Given the description of an element on the screen output the (x, y) to click on. 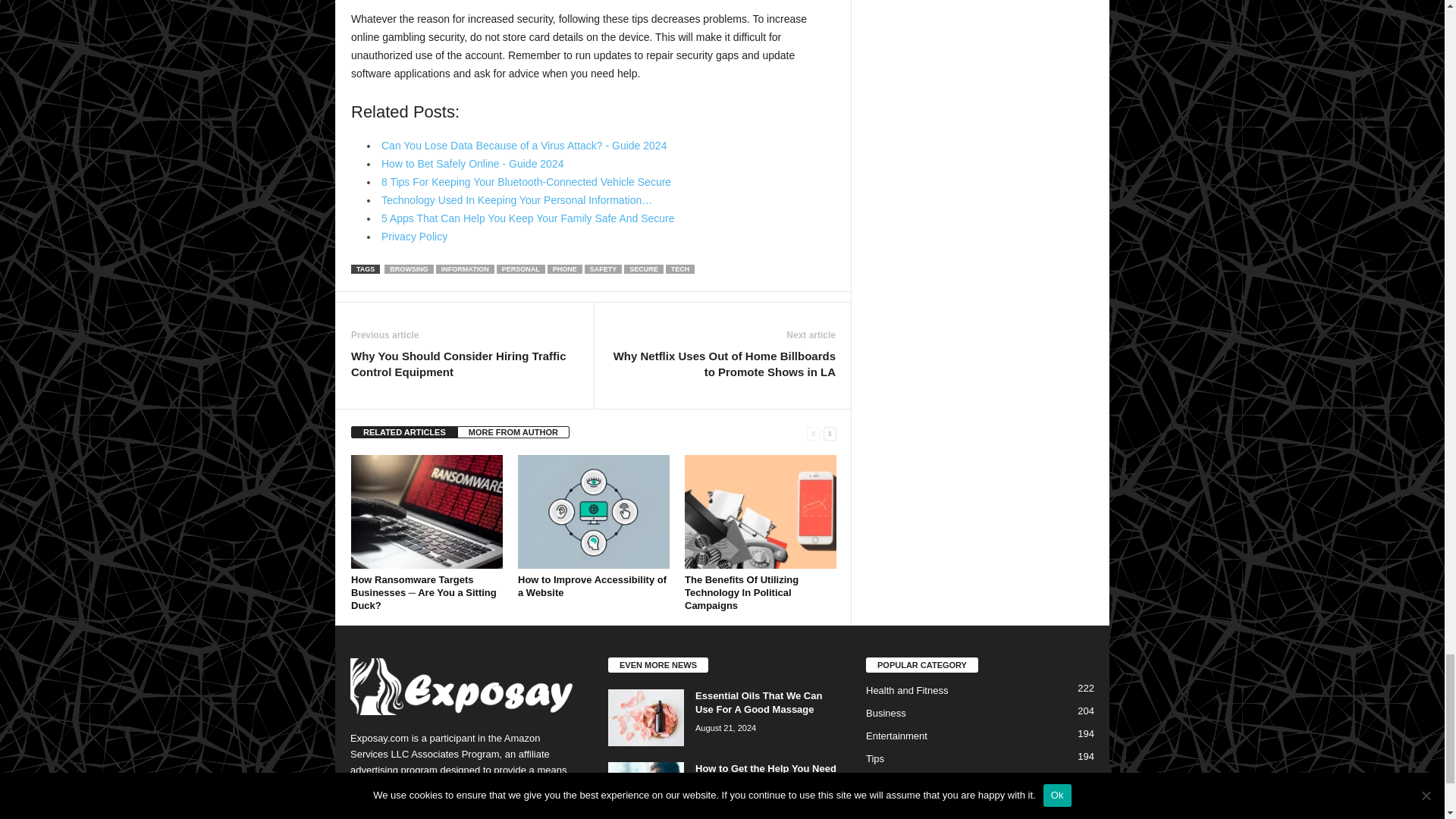
The Benefits Of Utilizing Technology In Political Campaigns (759, 511)
How to Improve Accessibility of a Website (593, 511)
How to Improve Accessibility of a Website (592, 586)
